Given the description of an element on the screen output the (x, y) to click on. 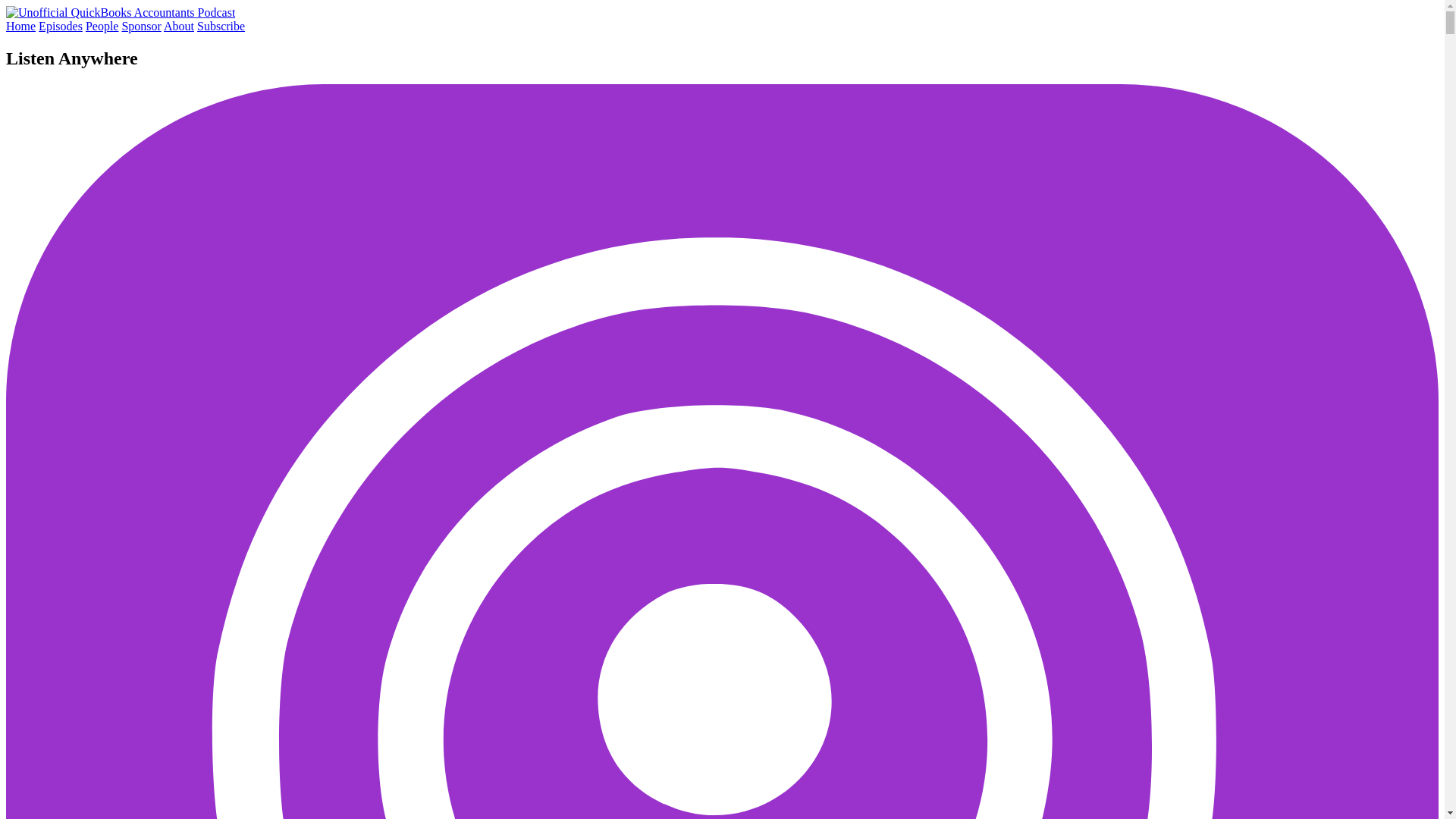
About (178, 25)
Sponsor (140, 25)
Episodes (60, 25)
Home (19, 25)
Home (19, 25)
People (102, 25)
About (178, 25)
Subscribe (220, 25)
People (102, 25)
Home (119, 11)
